Given the description of an element on the screen output the (x, y) to click on. 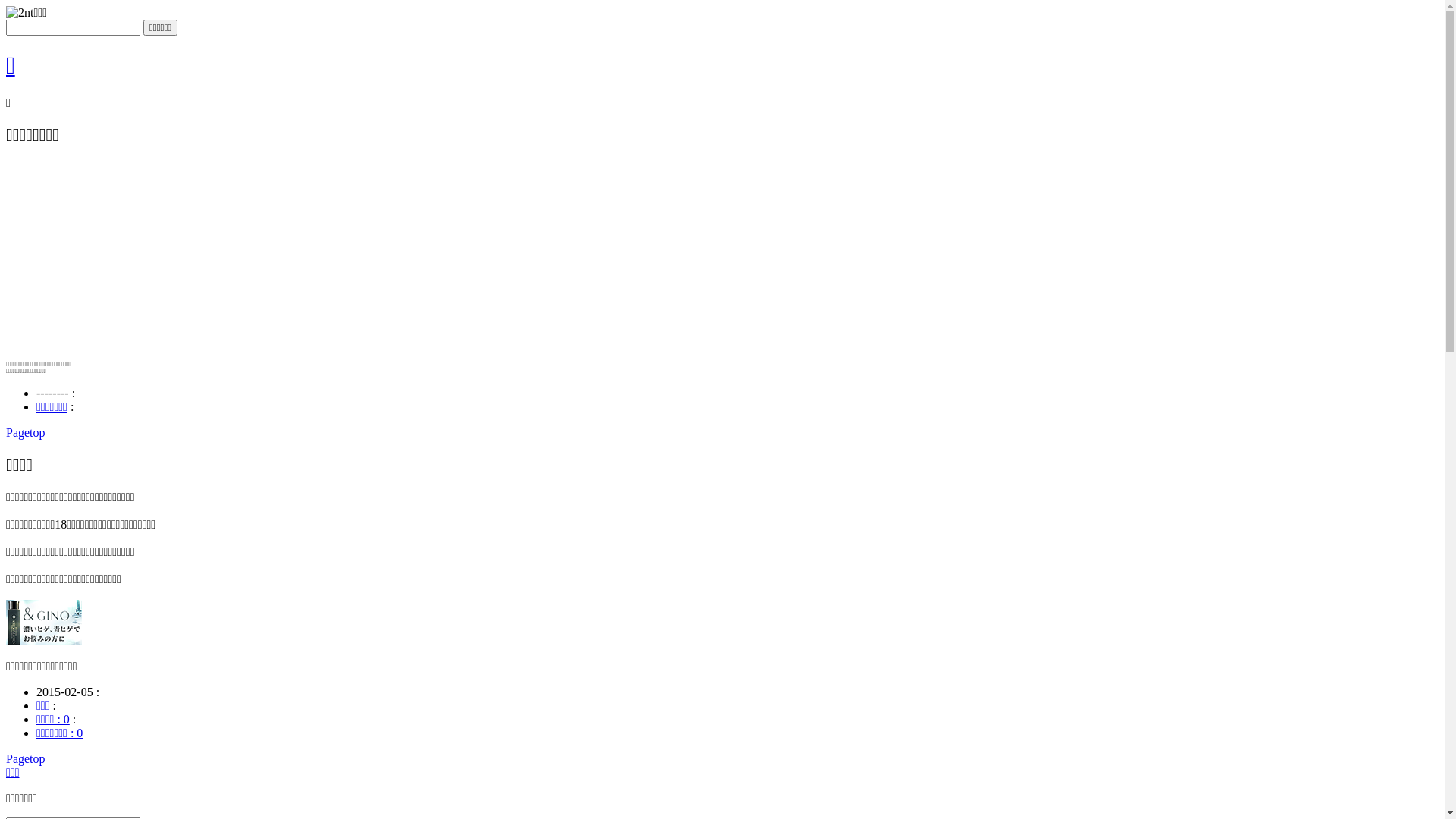
Pagetop Element type: text (25, 758)
Pagetop Element type: text (25, 432)
